Given the description of an element on the screen output the (x, y) to click on. 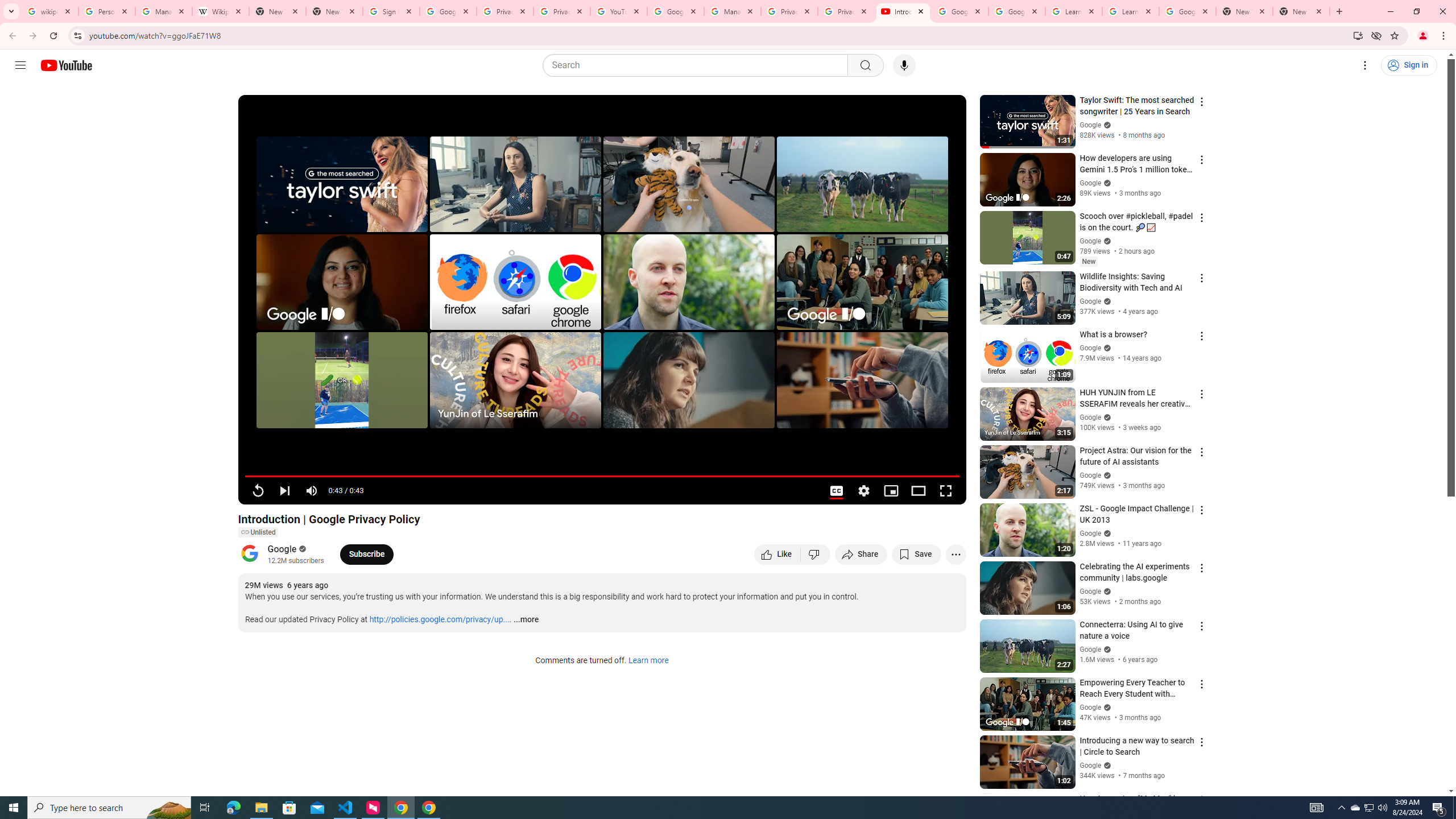
Subscribe to Google. (366, 554)
Like (777, 554)
Introduction | Google Privacy Policy - YouTube (902, 11)
YouTube Home (66, 65)
Mute (m) (312, 490)
Pause (k) (257, 490)
Google Account Help (959, 11)
Seek slider (601, 476)
Sign in - Google Accounts (391, 11)
